Given the description of an element on the screen output the (x, y) to click on. 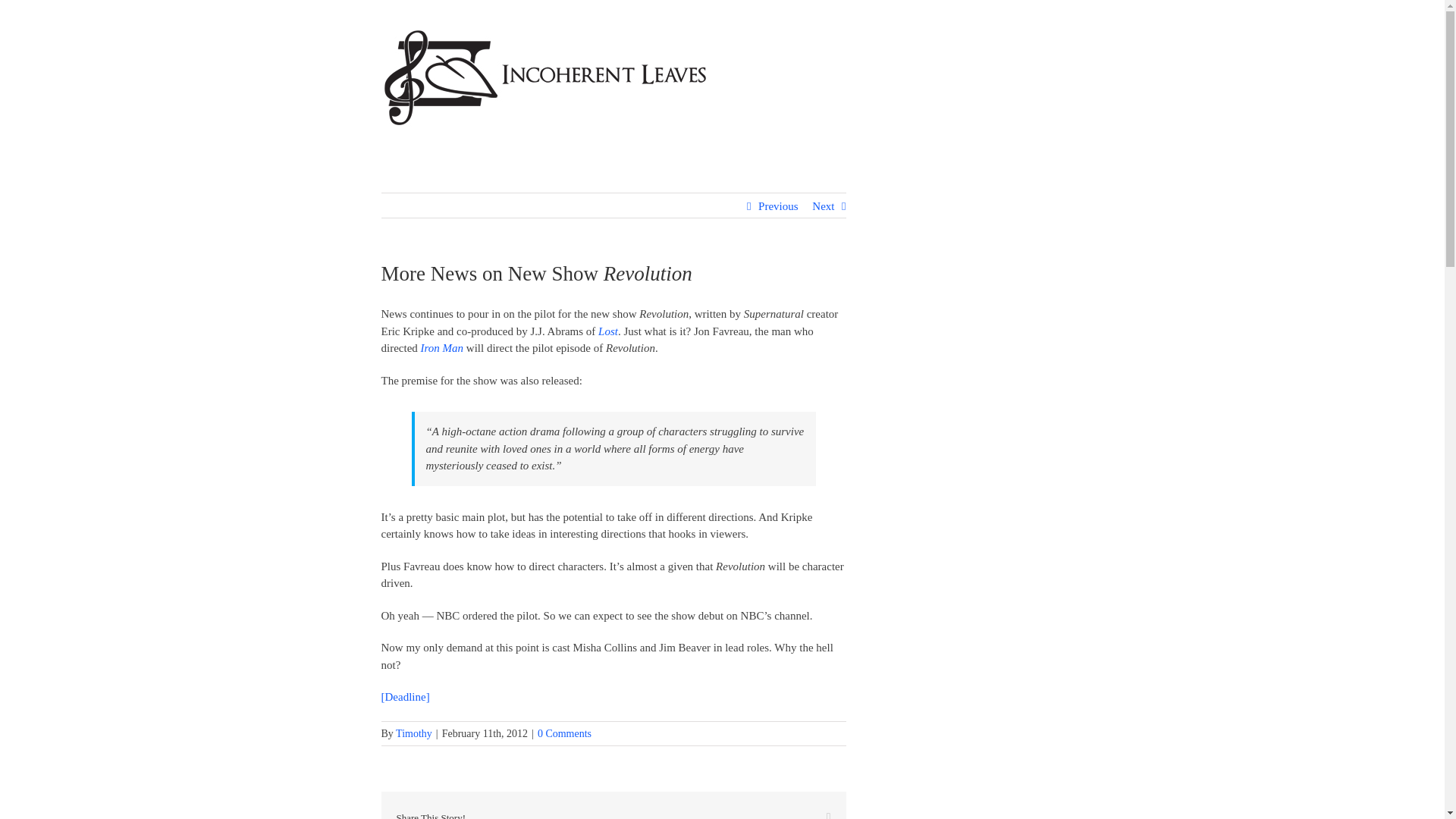
Lost (607, 330)
Iron Man (442, 347)
0 Comments (564, 733)
Next (823, 206)
Posts by Timothy (414, 733)
Timothy (414, 733)
Previous (777, 206)
